Given the description of an element on the screen output the (x, y) to click on. 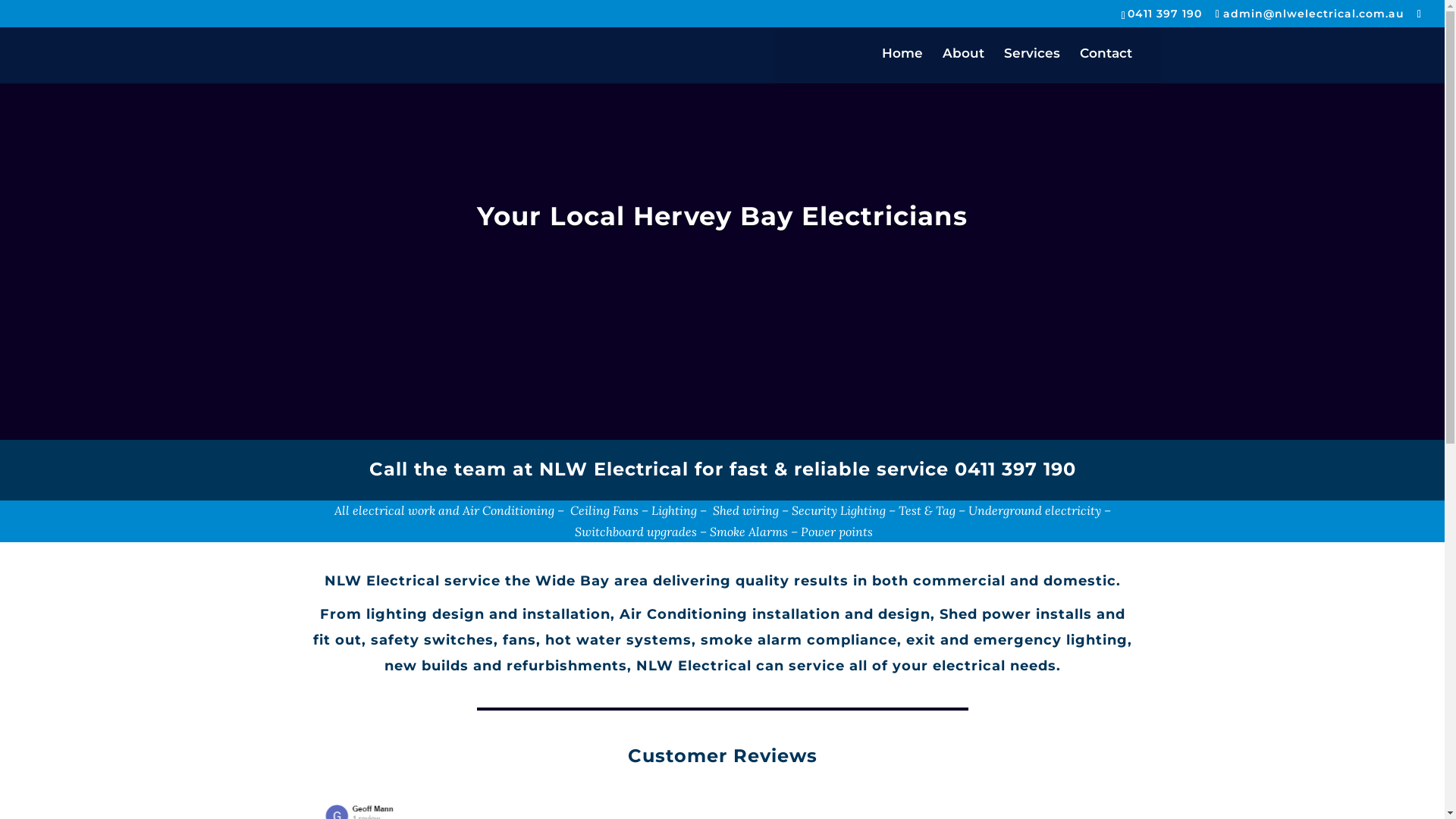
Contact Element type: text (1105, 65)
Home Element type: text (901, 65)
Services Element type: text (1032, 65)
admin@nlwelectrical.com.au Element type: text (1309, 12)
About Element type: text (962, 65)
